Given the description of an element on the screen output the (x, y) to click on. 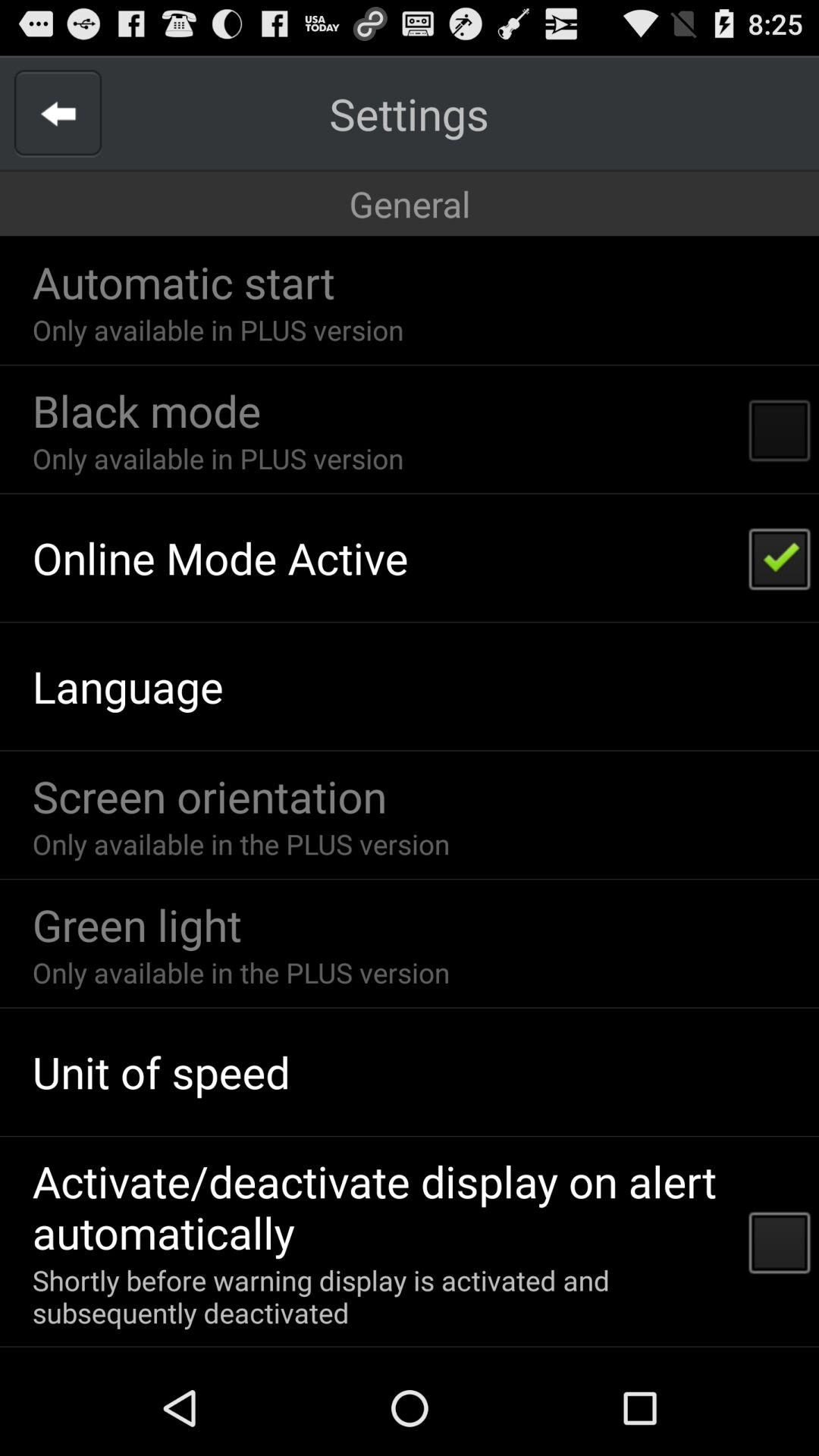
click icon above general app (409, 112)
